Given the description of an element on the screen output the (x, y) to click on. 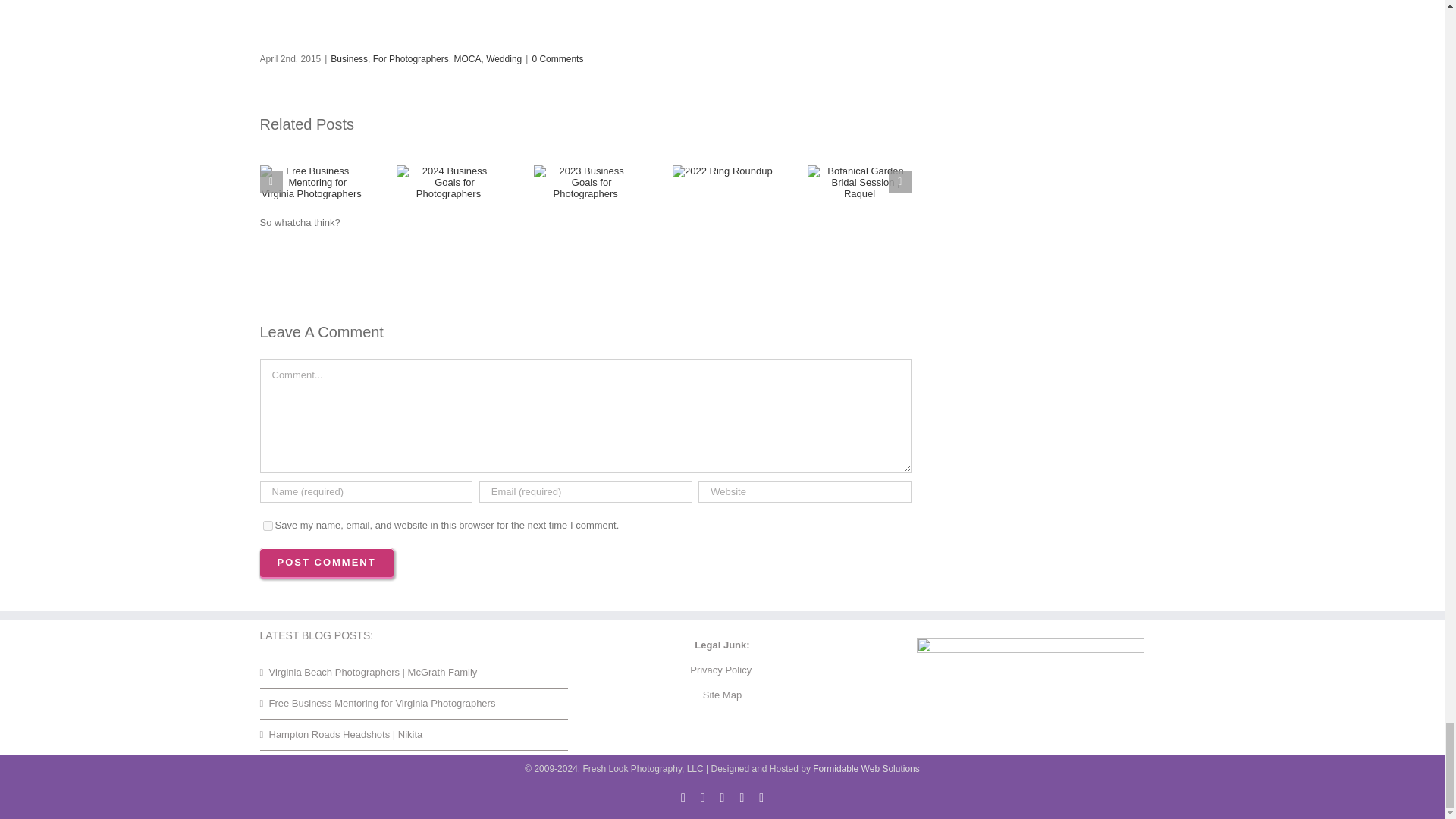
For Photographers (410, 59)
Post Comment (326, 562)
yes (267, 525)
Wedding (503, 59)
Business (349, 59)
MOCA (466, 59)
